Given the description of an element on the screen output the (x, y) to click on. 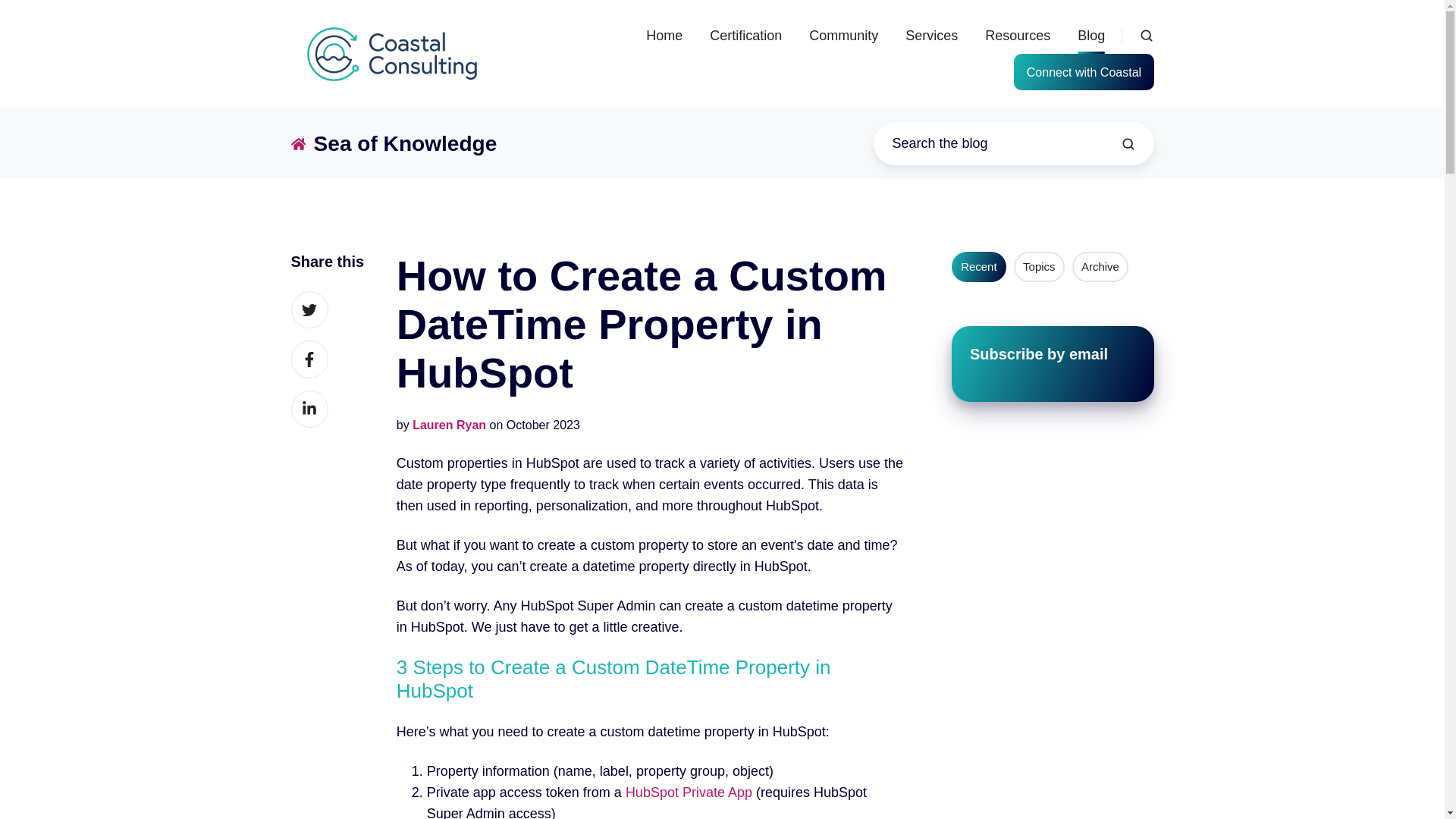
Community (843, 35)
Home (664, 35)
Certification (745, 35)
Resources (1017, 35)
Coastal Consulting (392, 54)
Services (931, 35)
Connect with Coastal (1083, 72)
